Given the description of an element on the screen output the (x, y) to click on. 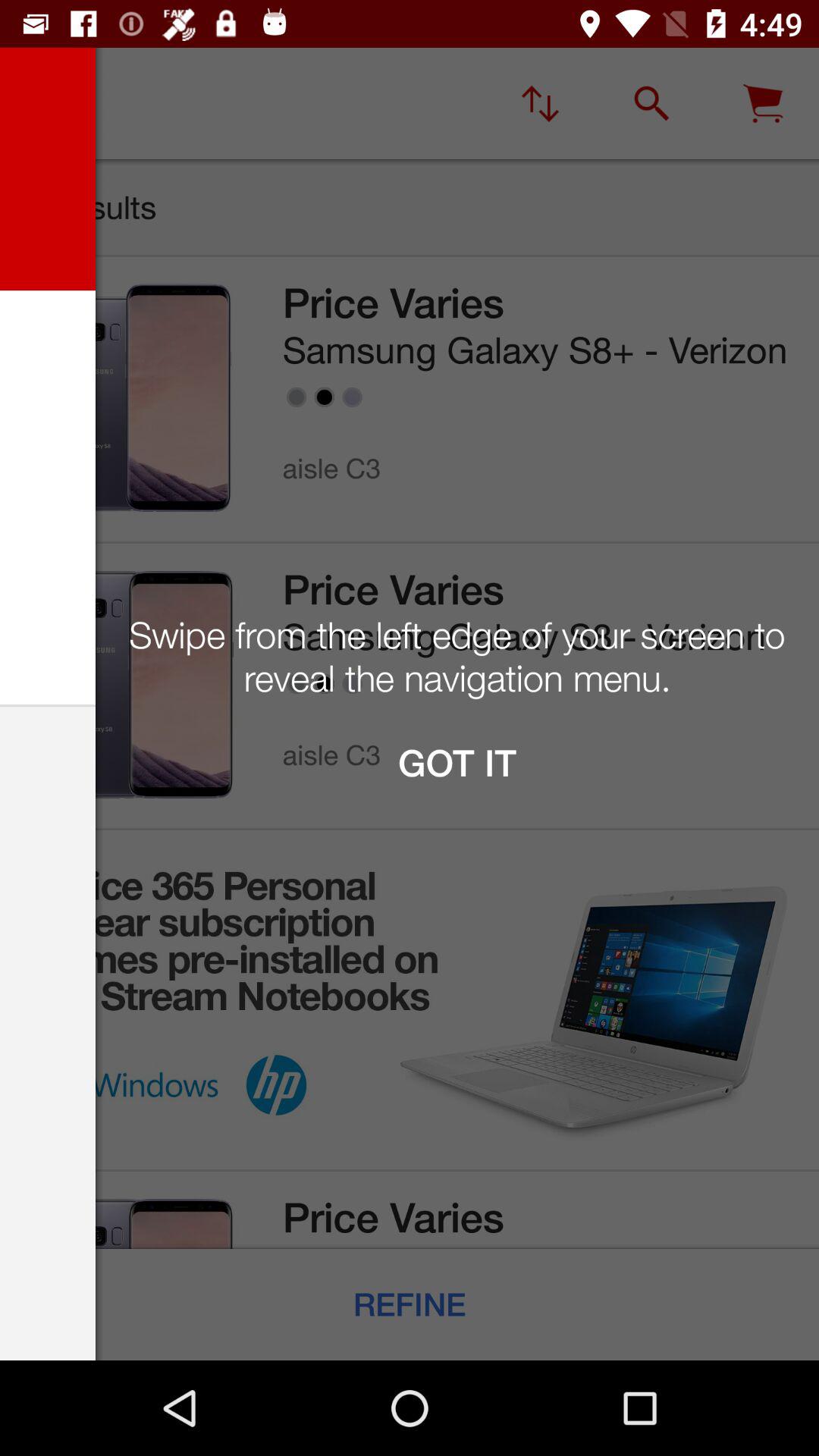
jump until got it icon (457, 763)
